Given the description of an element on the screen output the (x, y) to click on. 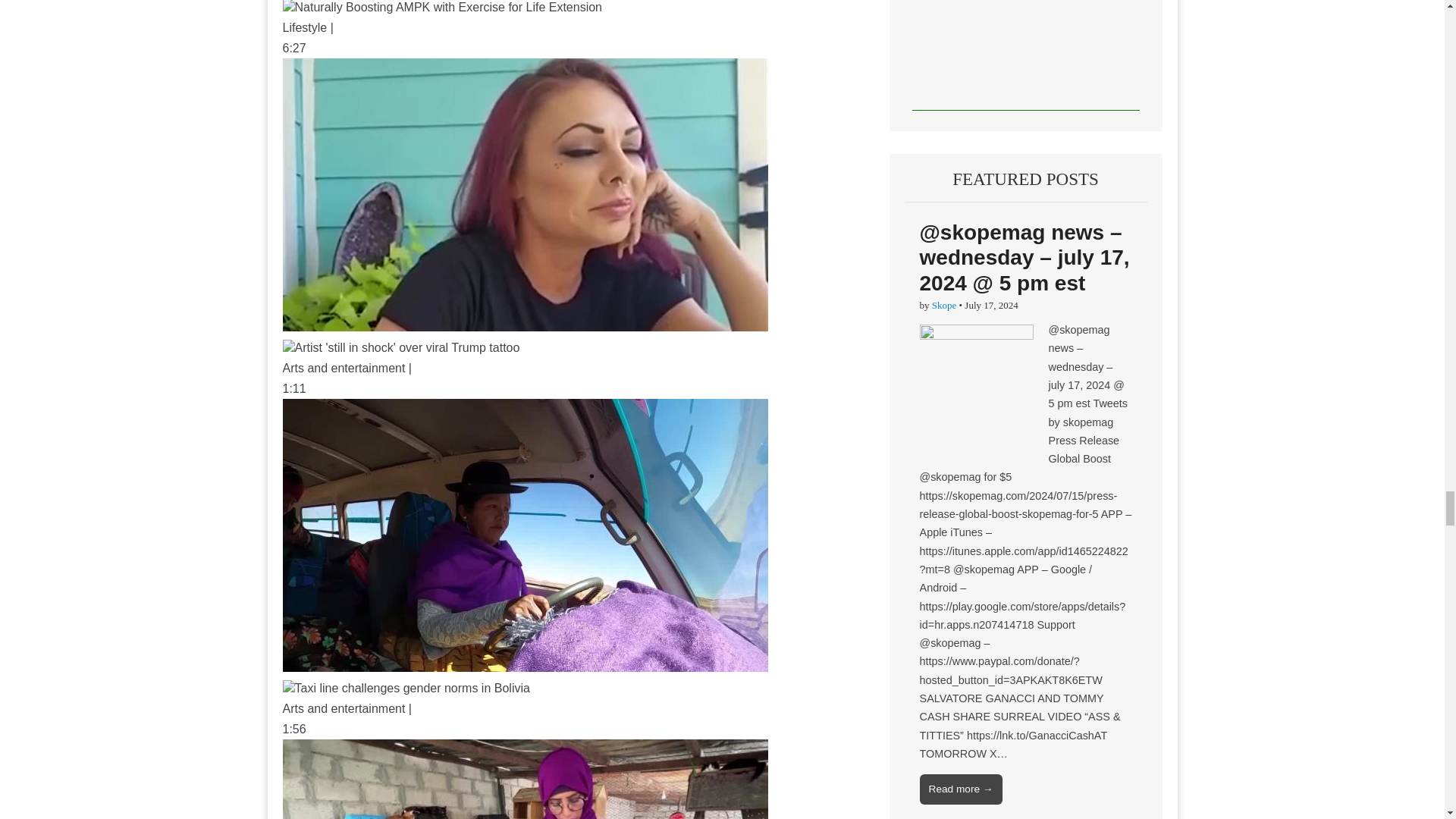
Posts by Skope (943, 305)
